Given the description of an element on the screen output the (x, y) to click on. 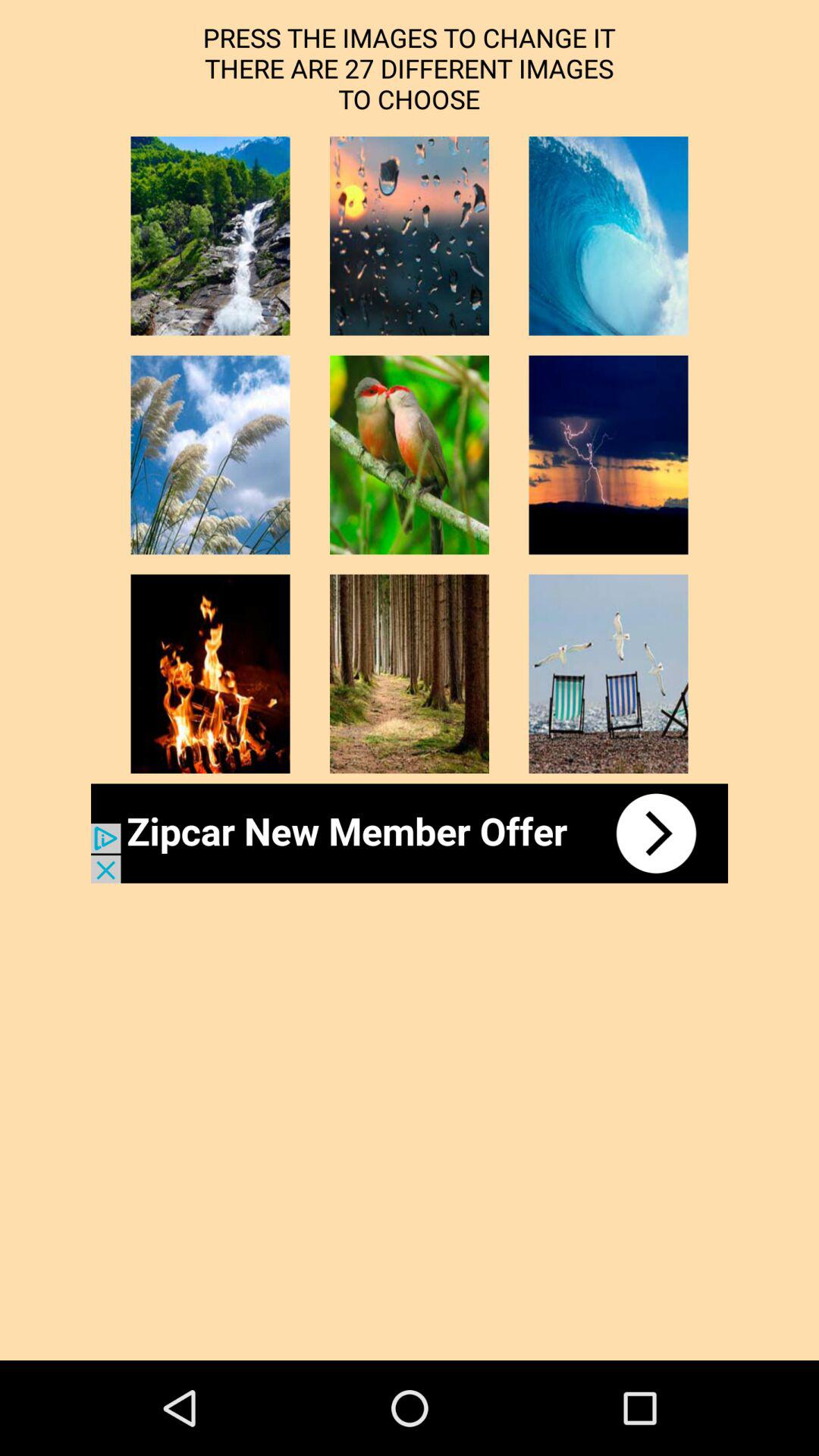
select image (608, 673)
